Given the description of an element on the screen output the (x, y) to click on. 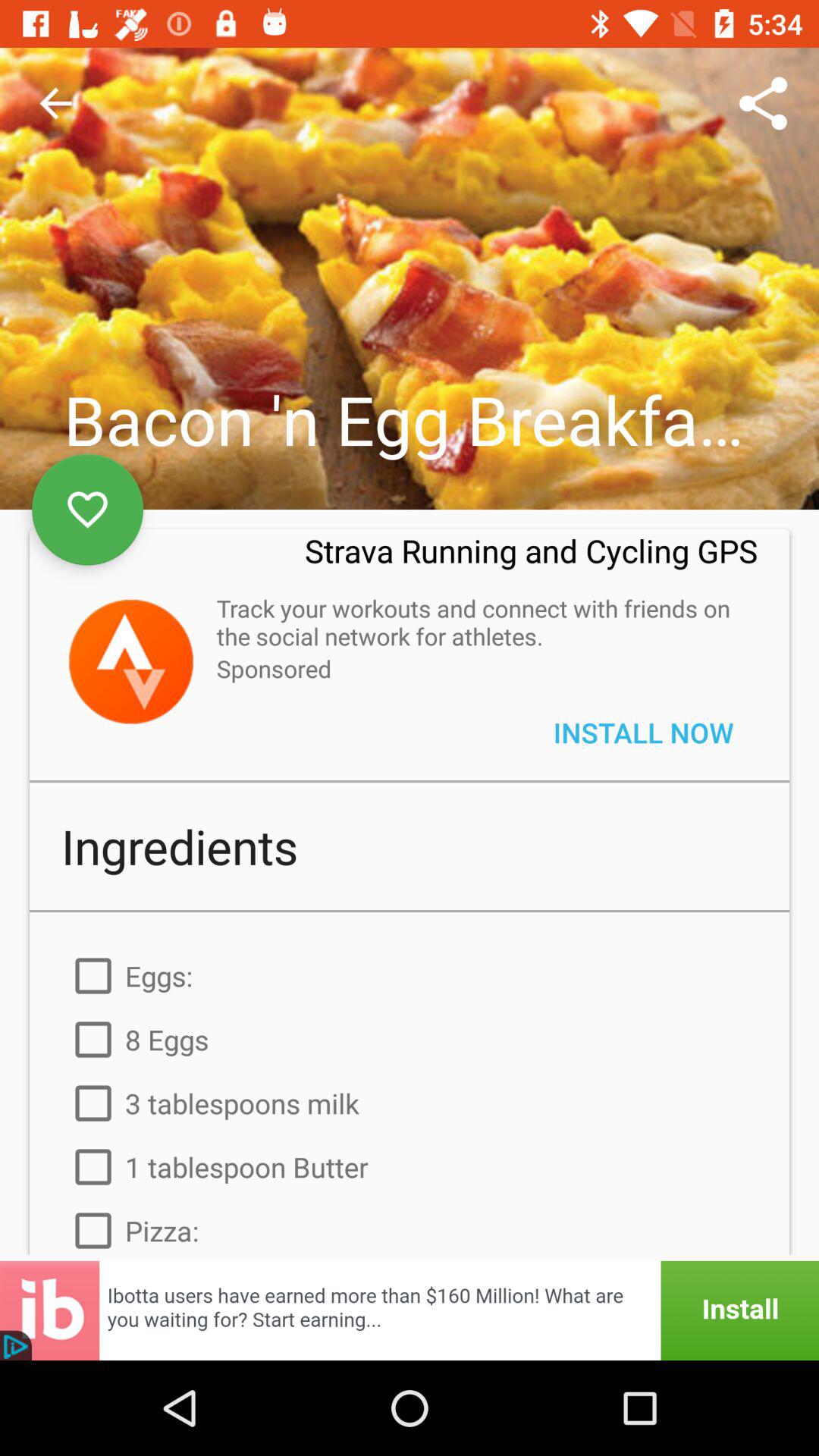
launch item below strava running and icon (478, 622)
